Given the description of an element on the screen output the (x, y) to click on. 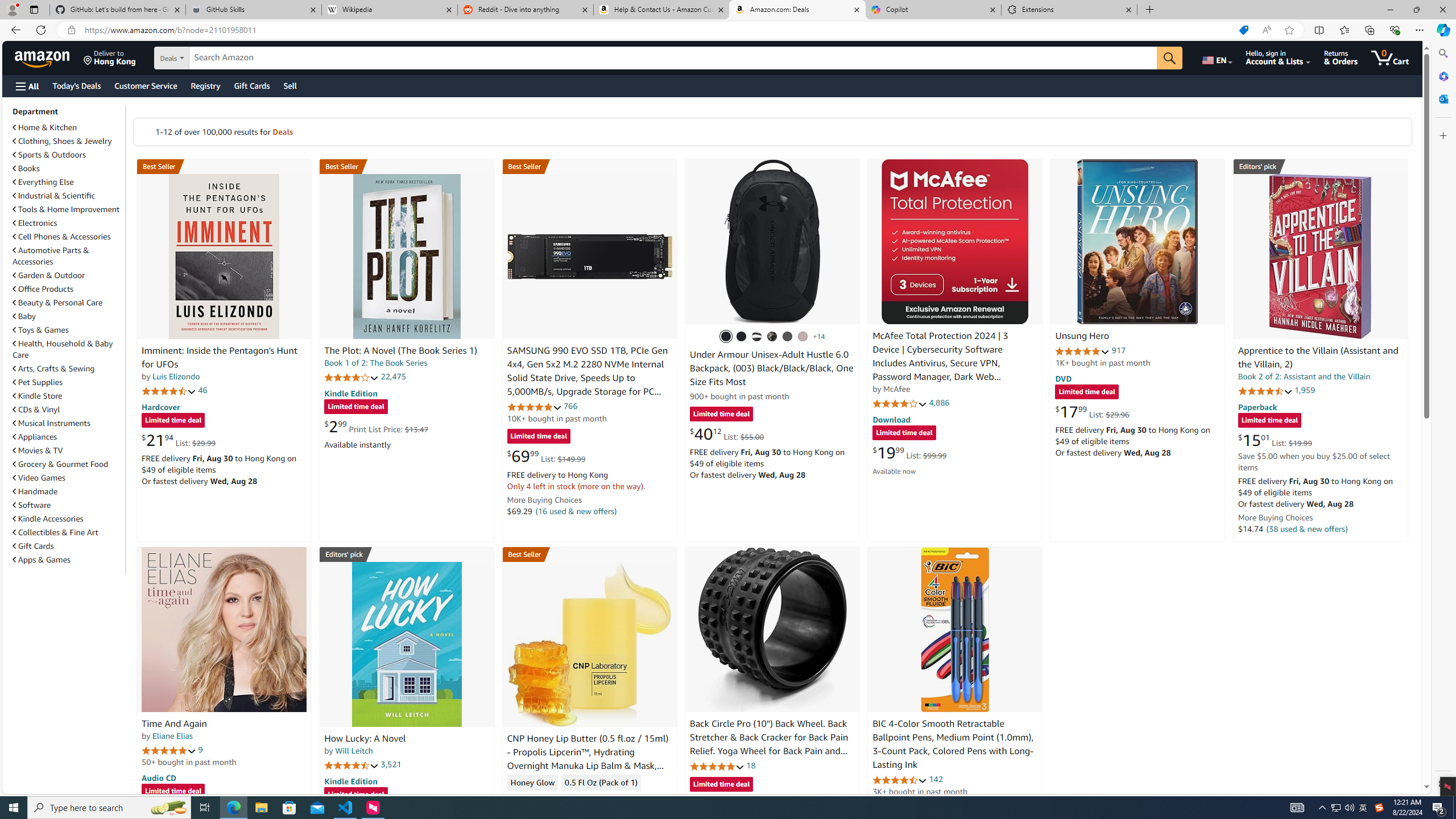
Best Seller in Internal Solid State Drives (589, 165)
Industrial & Scientific (67, 195)
Choose a language for shopping. (1216, 57)
Beauty & Personal Care (58, 302)
Movies & TV (67, 450)
Editors' pick Best Science Fiction & Fantasy (1320, 165)
Amazon.com: Deals (797, 9)
